Given the description of an element on the screen output the (x, y) to click on. 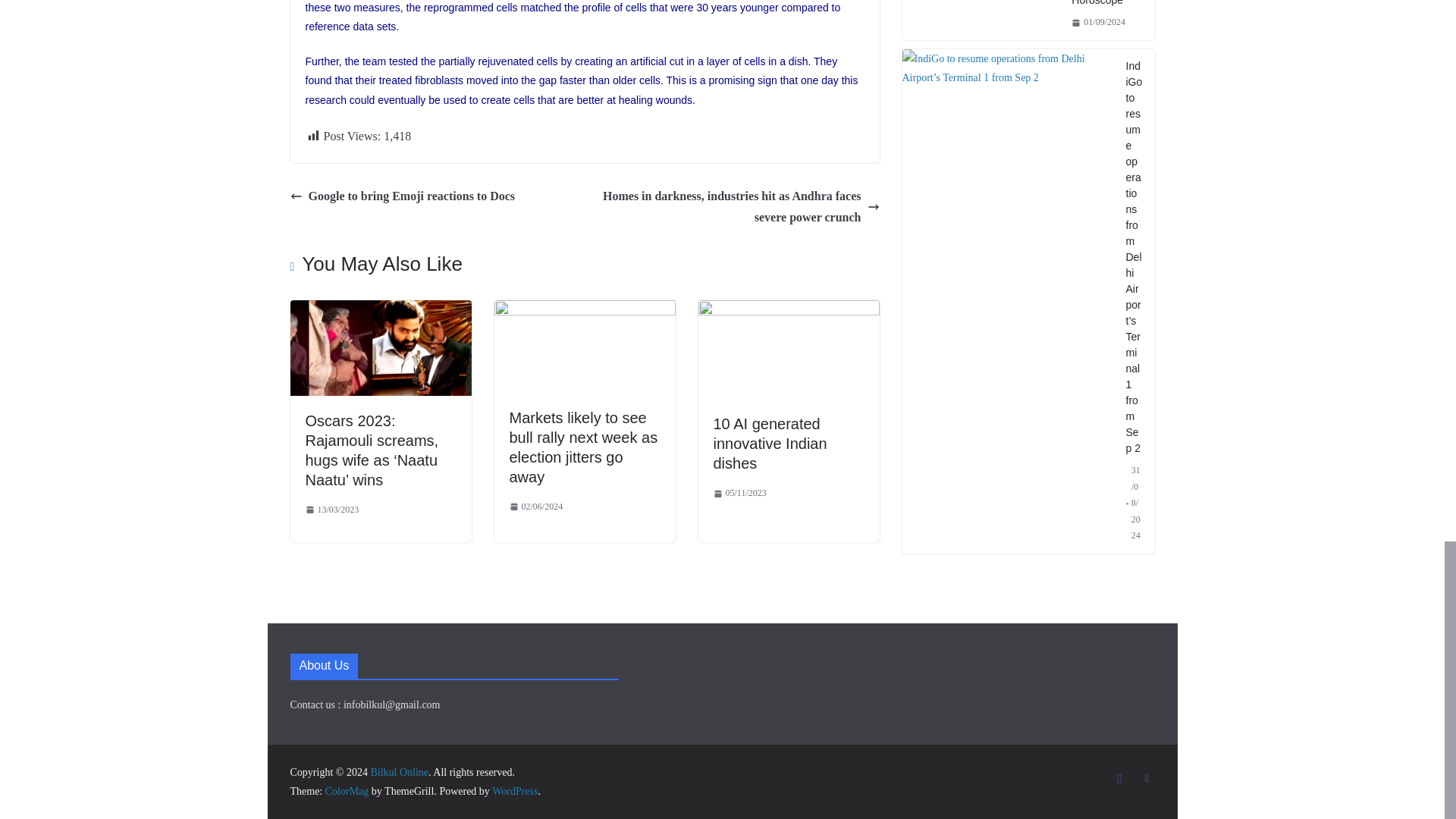
Google to bring Emoji reactions to Docs (402, 196)
4:11 pm (331, 510)
